Given the description of an element on the screen output the (x, y) to click on. 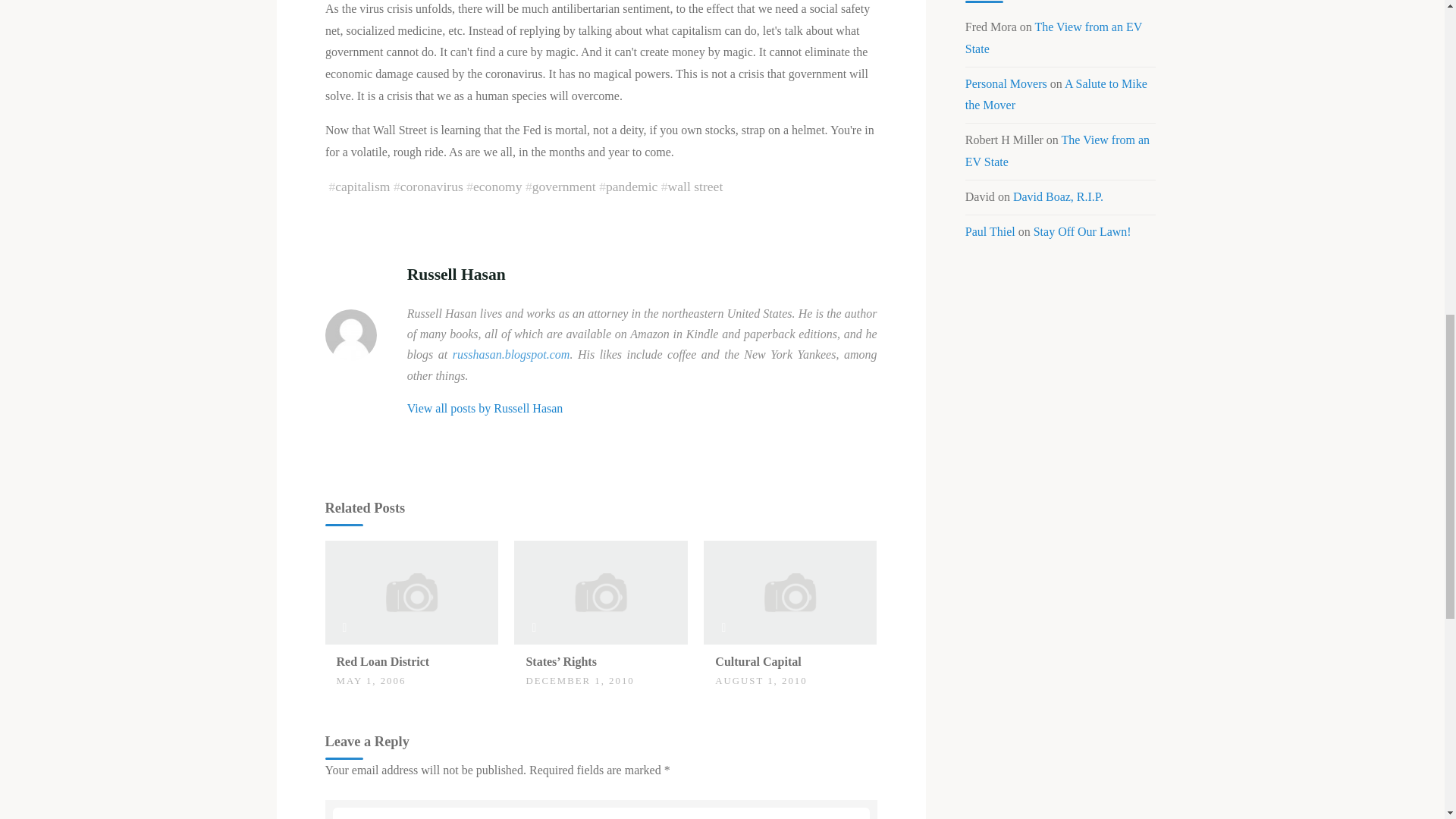
capitalism (362, 186)
coronavirus (430, 186)
government (563, 186)
Red Loan District (382, 661)
pandemic (630, 186)
Red Loan District (410, 590)
economy (496, 186)
